Given the description of an element on the screen output the (x, y) to click on. 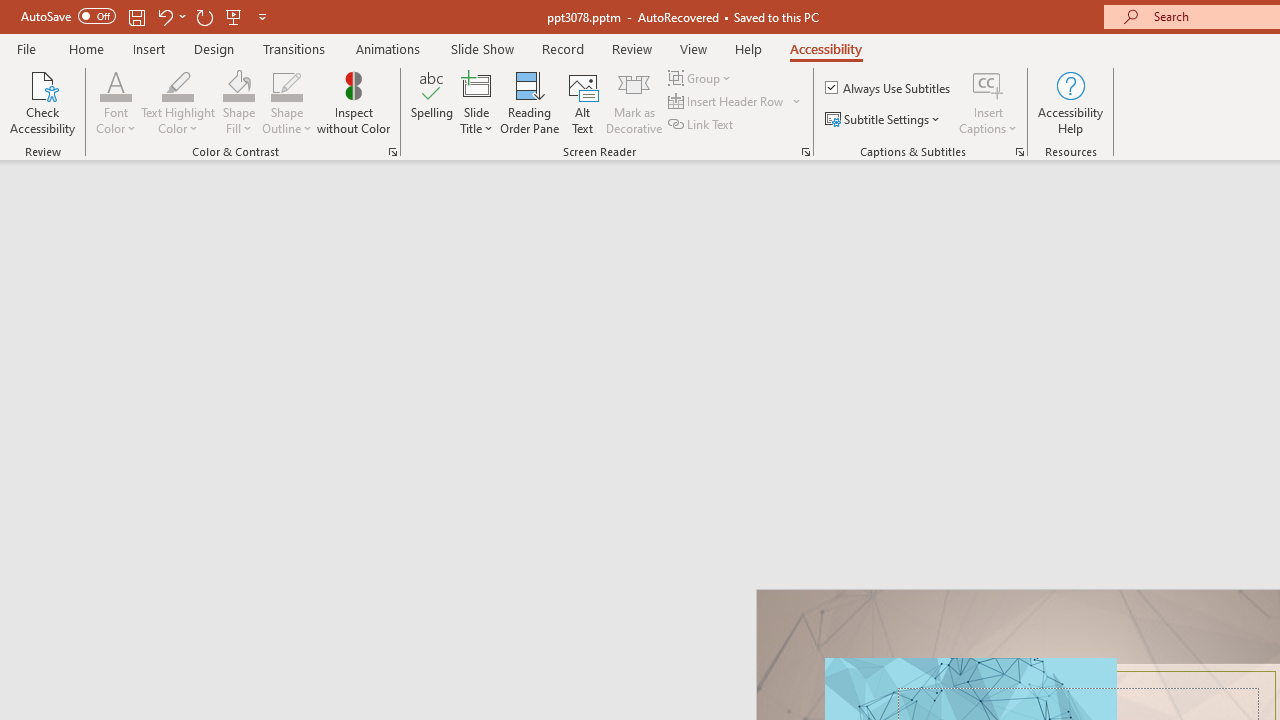
Check Accessibility (42, 102)
Text Highlight Color (178, 84)
Link Text (702, 124)
Insert Header Row (735, 101)
Subtitle Settings (884, 119)
Slide Title (476, 84)
Captions & Subtitles (1019, 151)
Color & Contrast (392, 151)
